Given the description of an element on the screen output the (x, y) to click on. 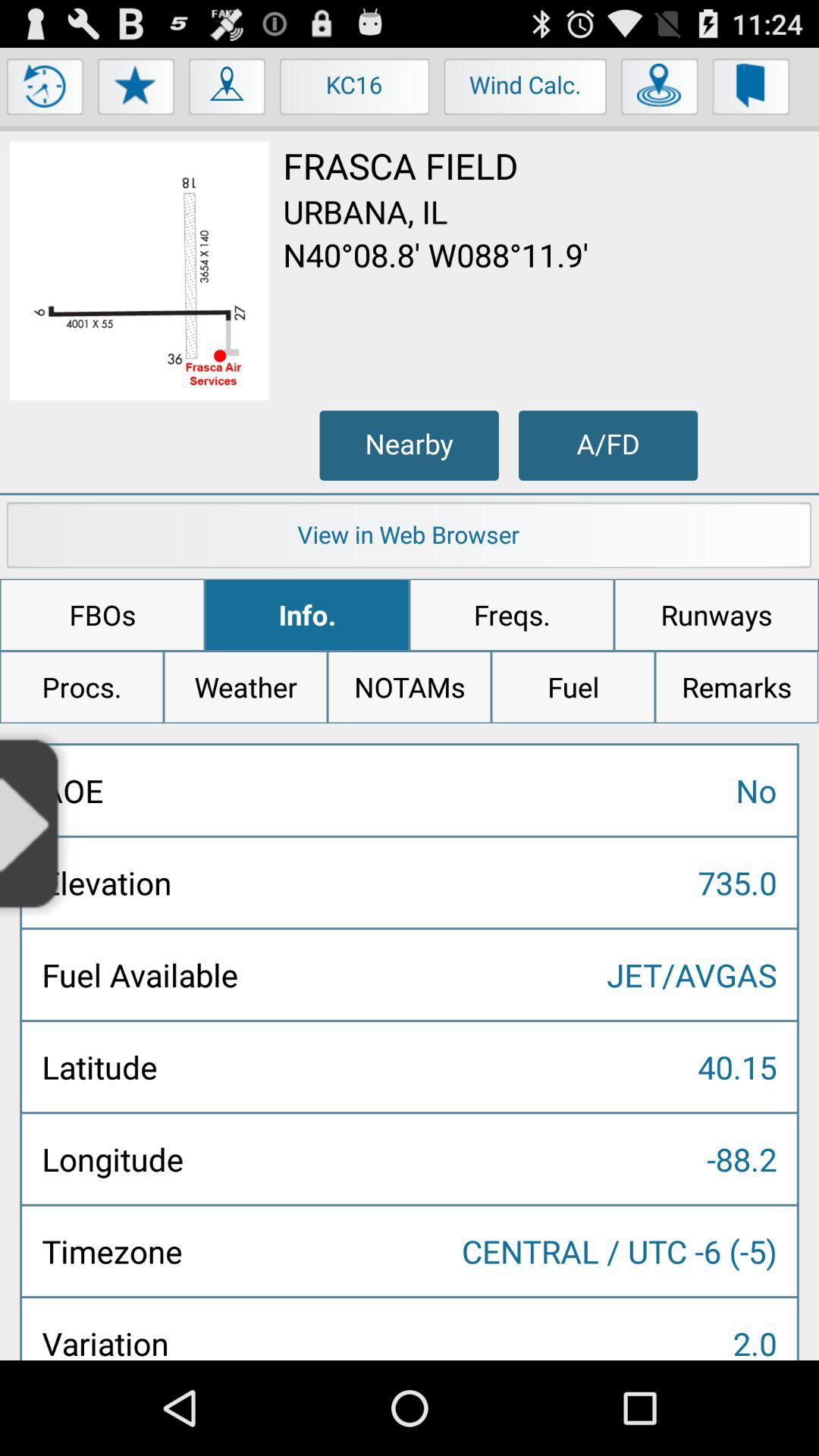
click the item next to wind calc. icon (659, 90)
